Given the description of an element on the screen output the (x, y) to click on. 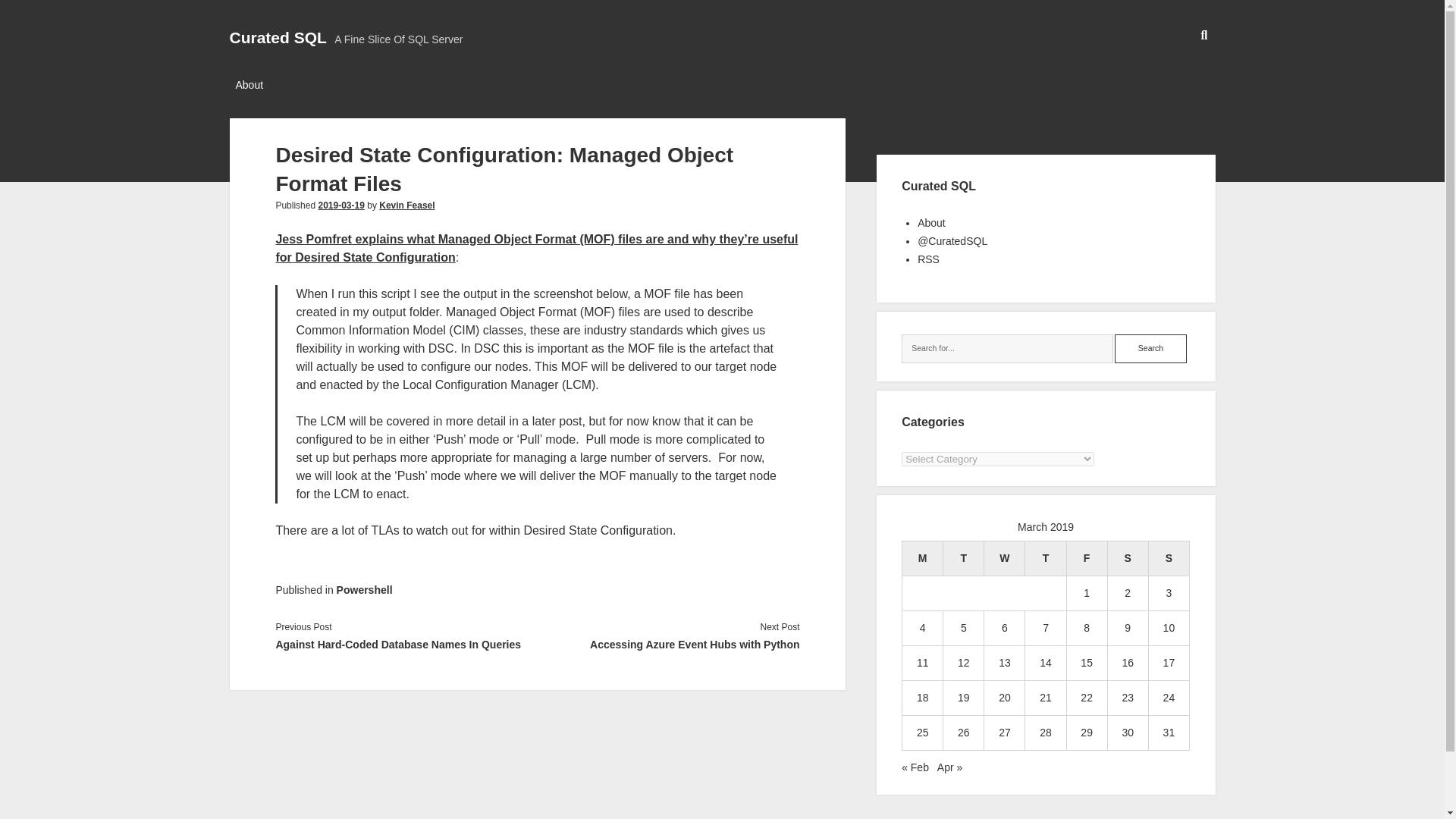
Against Hard-Coded Database Names In Queries (406, 644)
About (930, 223)
18 (922, 697)
Monday (922, 557)
View all posts in Powershell (364, 589)
2019-03-19 (340, 204)
Saturday (1127, 557)
25 (922, 732)
14 (1045, 662)
Accessing Azure Event Hubs with Python (668, 644)
